Given the description of an element on the screen output the (x, y) to click on. 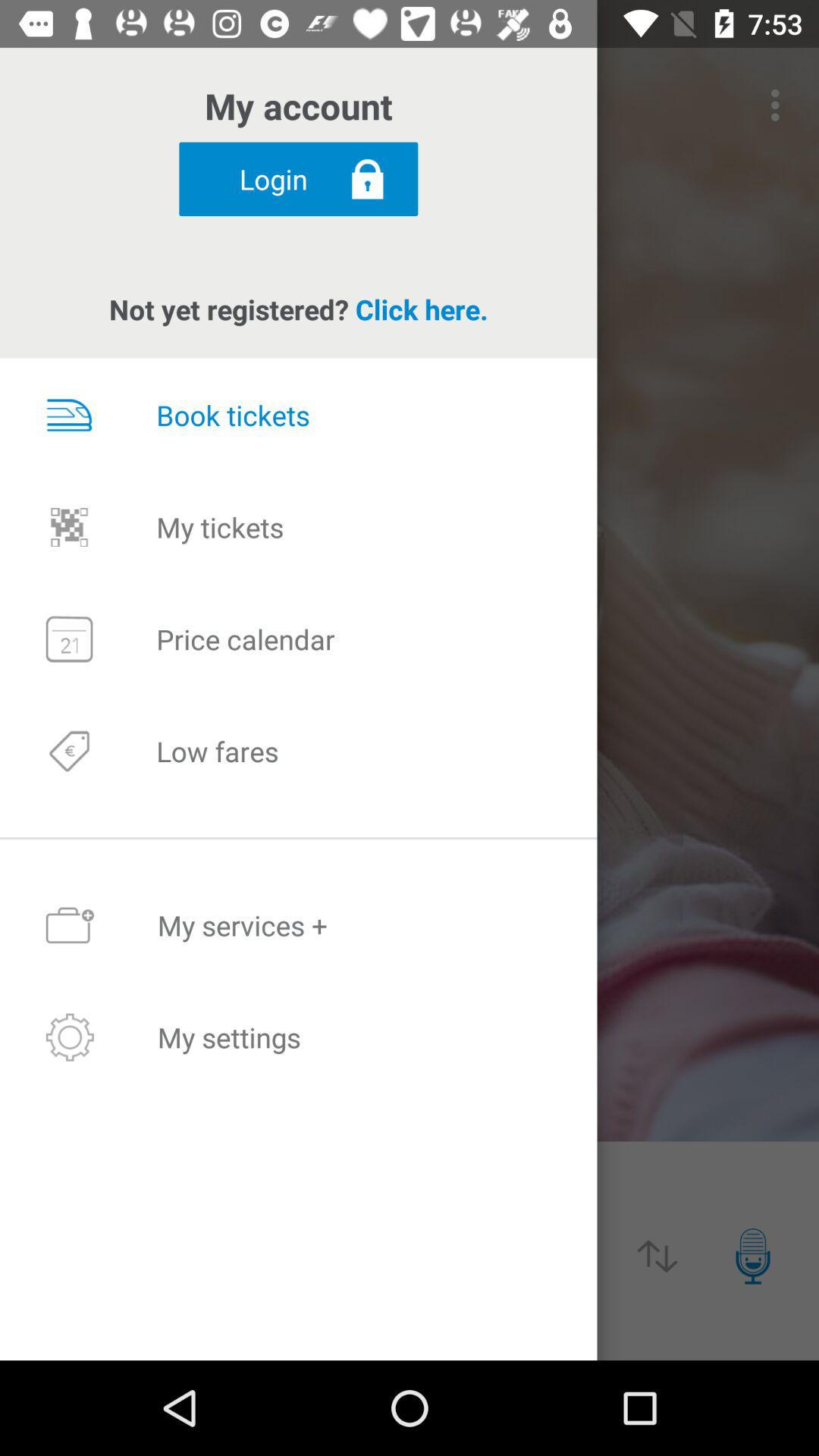
click on the blue colored box below my account at the top of the page (298, 178)
click on the button which is at the bottom right corner of the page (752, 1256)
